Given the description of an element on the screen output the (x, y) to click on. 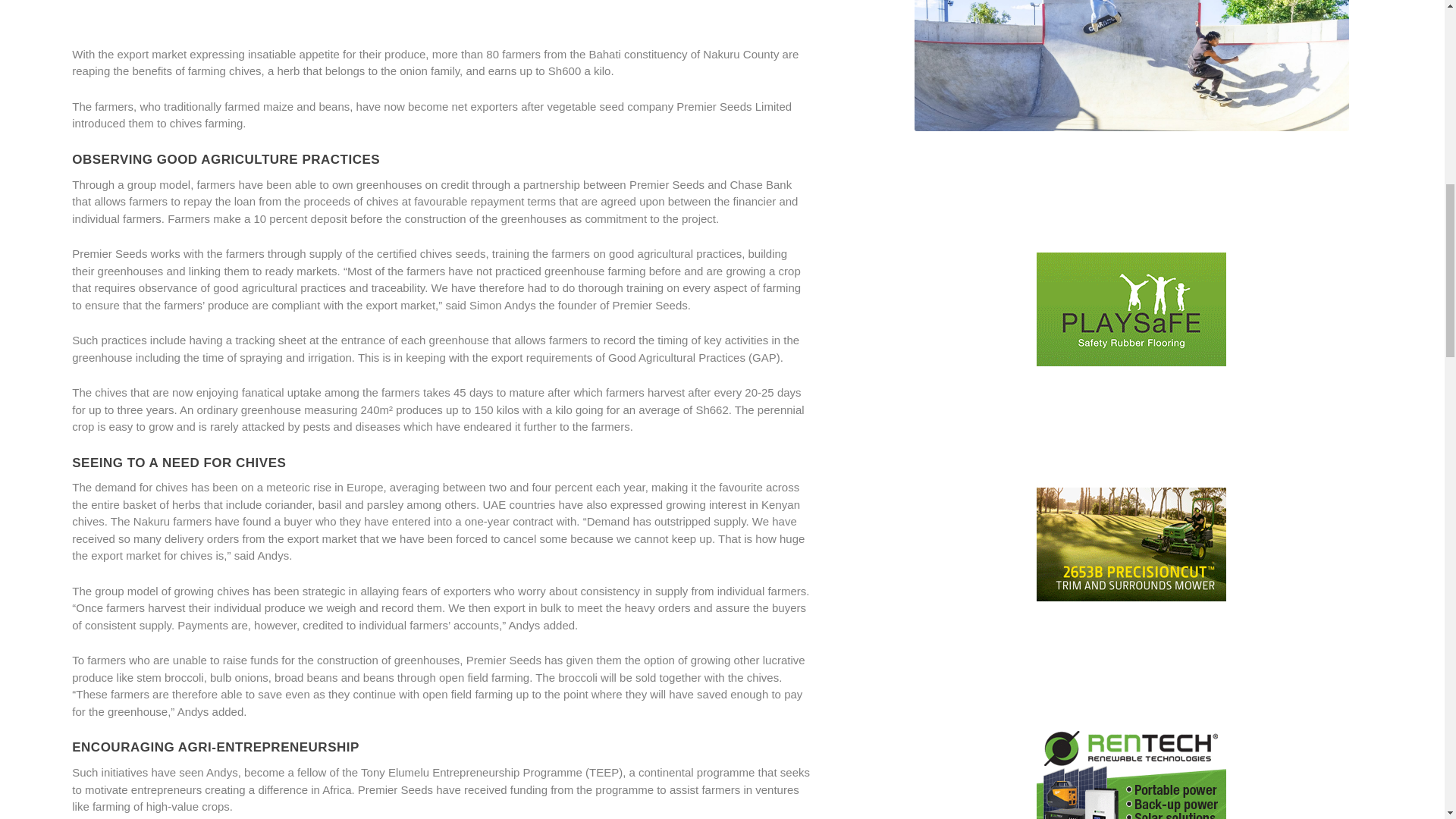
LATEST ISSUE  (1131, 65)
